Given the description of an element on the screen output the (x, y) to click on. 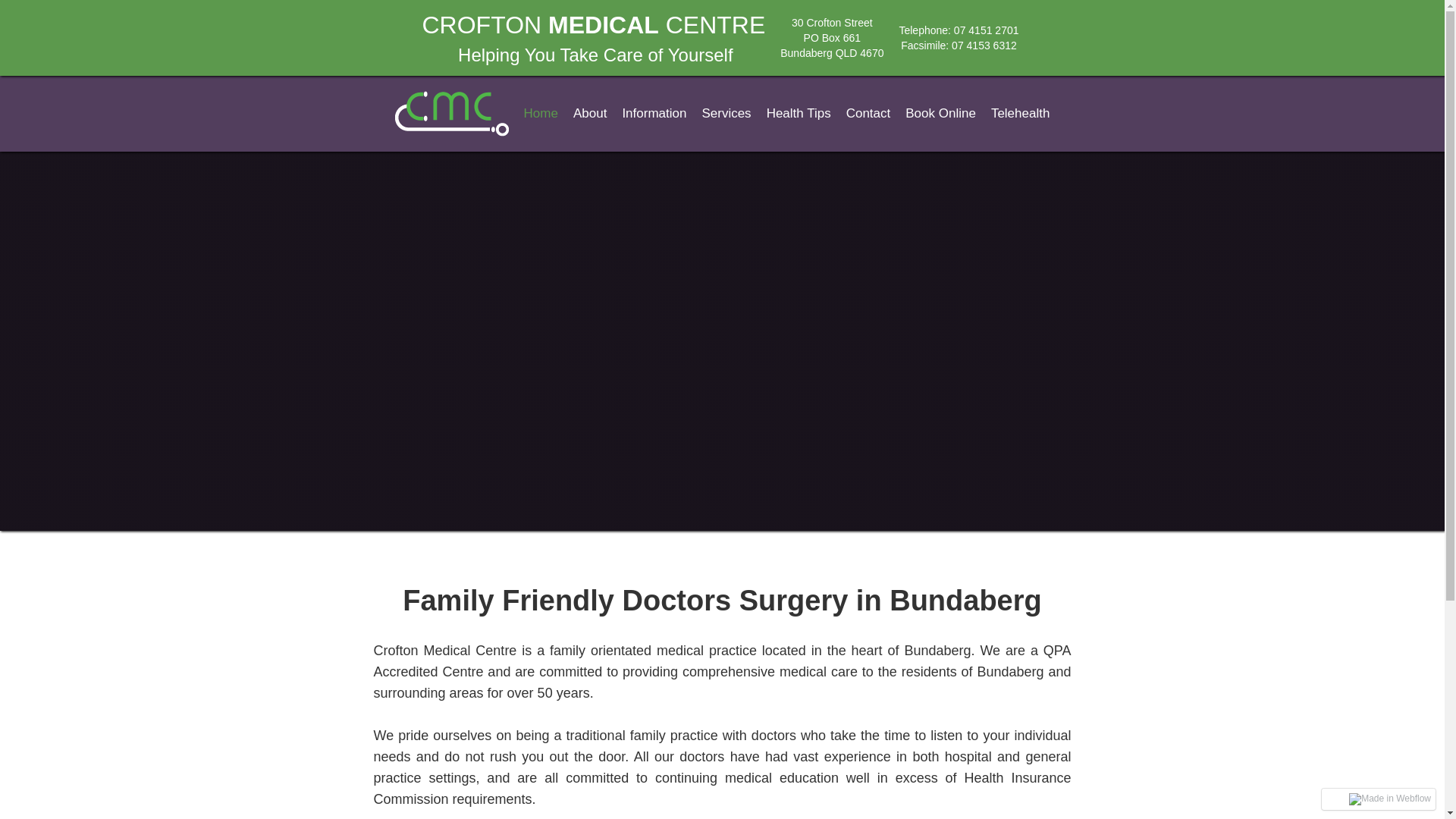
About Element type: text (589, 113)
Health Tips Element type: text (798, 113)
Contact Element type: text (868, 113)
07 4151 2701 Element type: text (986, 30)
Telehealth Element type: text (1020, 113)
Book Online Element type: text (940, 113)
Home Element type: text (540, 113)
Services Element type: text (725, 113)
